Given the description of an element on the screen output the (x, y) to click on. 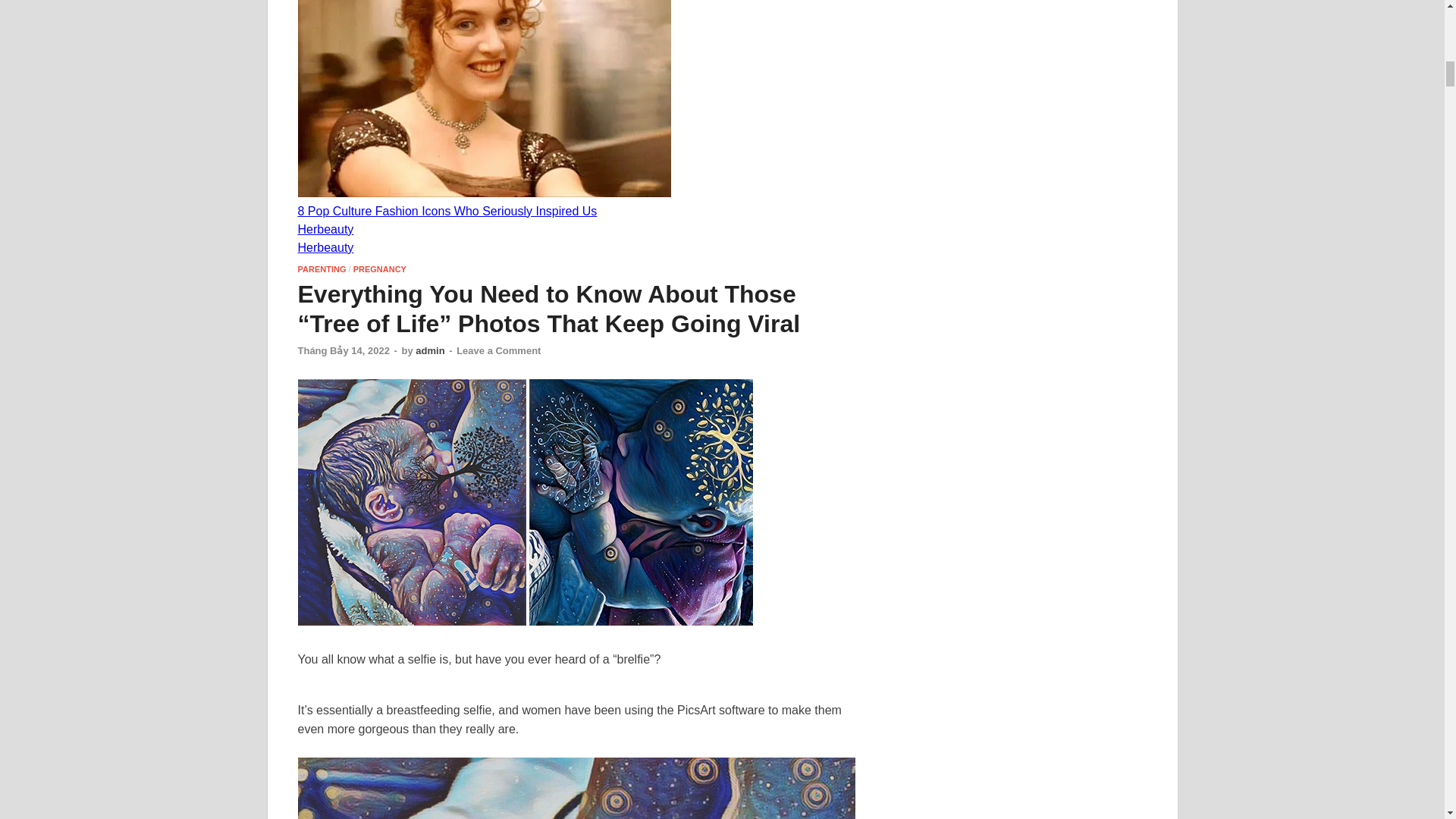
Leave a Comment (498, 350)
PREGNANCY (379, 268)
PARENTING (321, 268)
admin (429, 350)
